Given the description of an element on the screen output the (x, y) to click on. 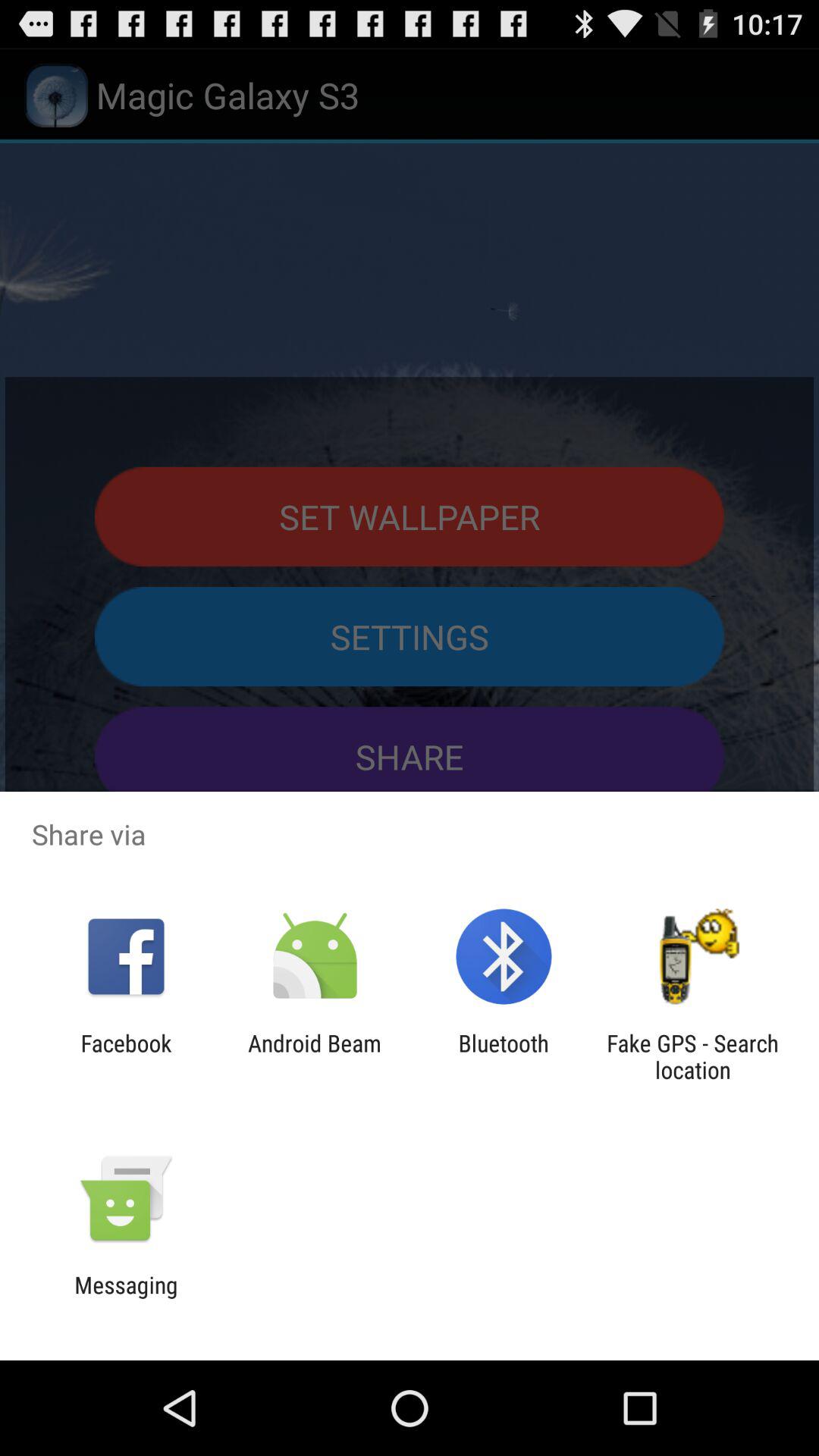
launch the item to the left of fake gps search (503, 1056)
